Given the description of an element on the screen output the (x, y) to click on. 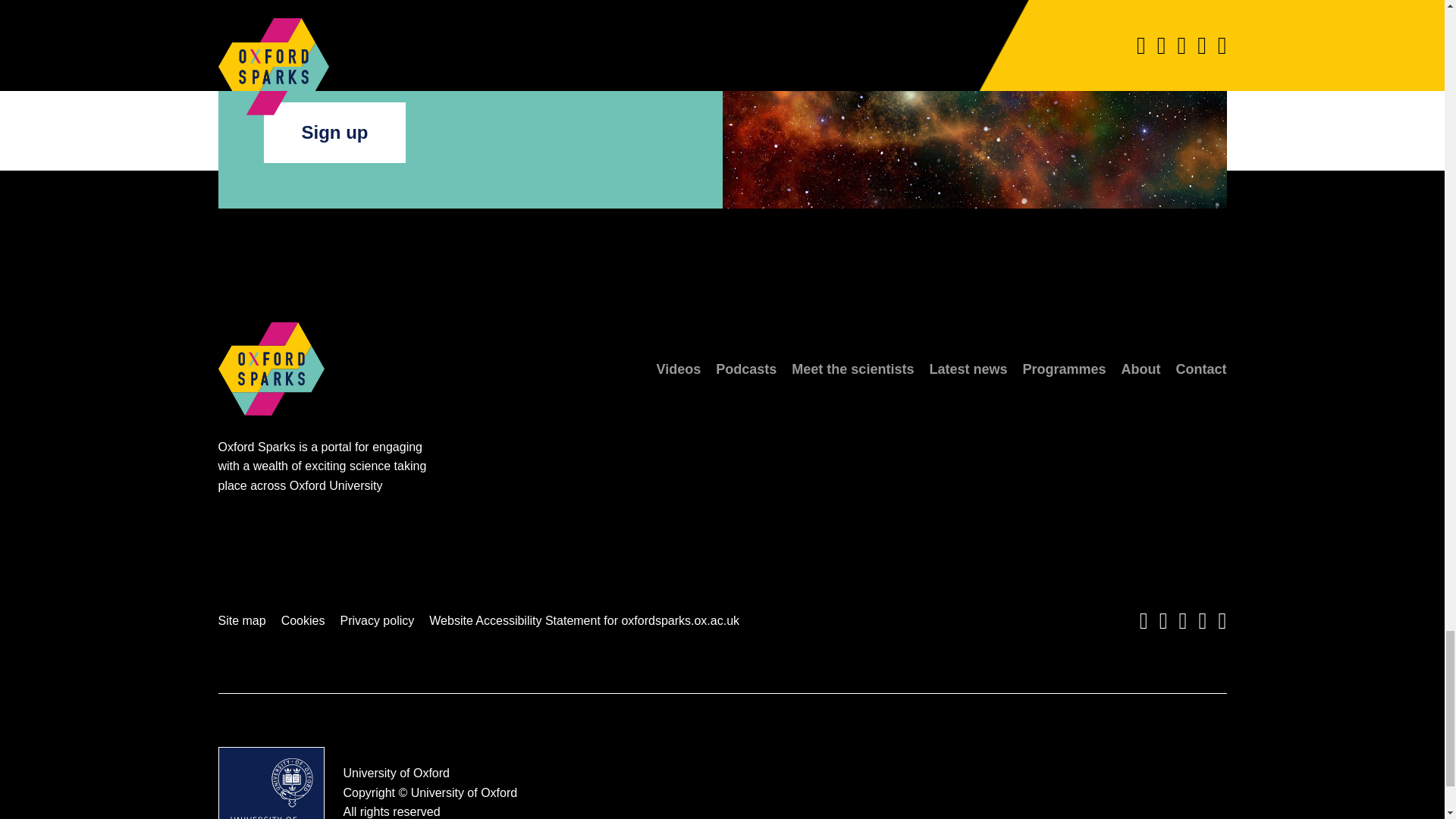
Oxford Sparks (271, 431)
Videos (678, 369)
Programmes (1063, 369)
Latest news (967, 369)
Sign up (334, 132)
Website Accessibility Statement for oxfordsparks.ox.ac.uk (584, 620)
About (1140, 369)
Site map (242, 620)
Podcasts (746, 369)
Cookies (302, 620)
Meet the scientists (853, 369)
Privacy policy (376, 620)
Contact (1199, 369)
